Given the description of an element on the screen output the (x, y) to click on. 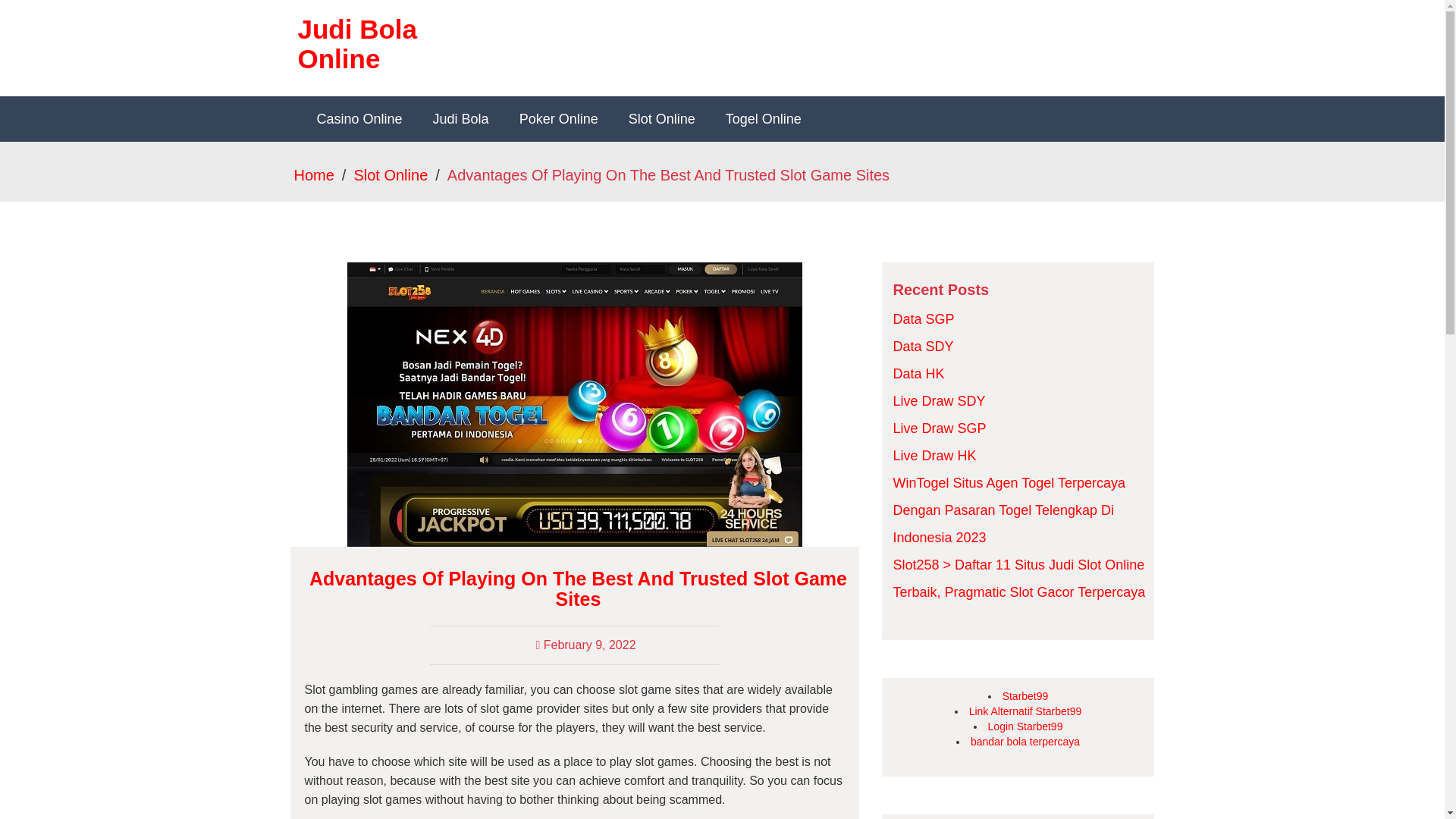
Data SDY (923, 346)
Judi Bola (460, 118)
bandar bola terpercaya (1025, 741)
Casino Online (359, 118)
Slot Online (661, 118)
Live Draw SGP (940, 427)
Home (314, 175)
Judi Bola (460, 118)
Poker Online (557, 118)
Slot Online (390, 175)
Starbet99 (1025, 695)
Togel Online (763, 118)
Live Draw HK (934, 455)
Poker Online (557, 118)
